Given the description of an element on the screen output the (x, y) to click on. 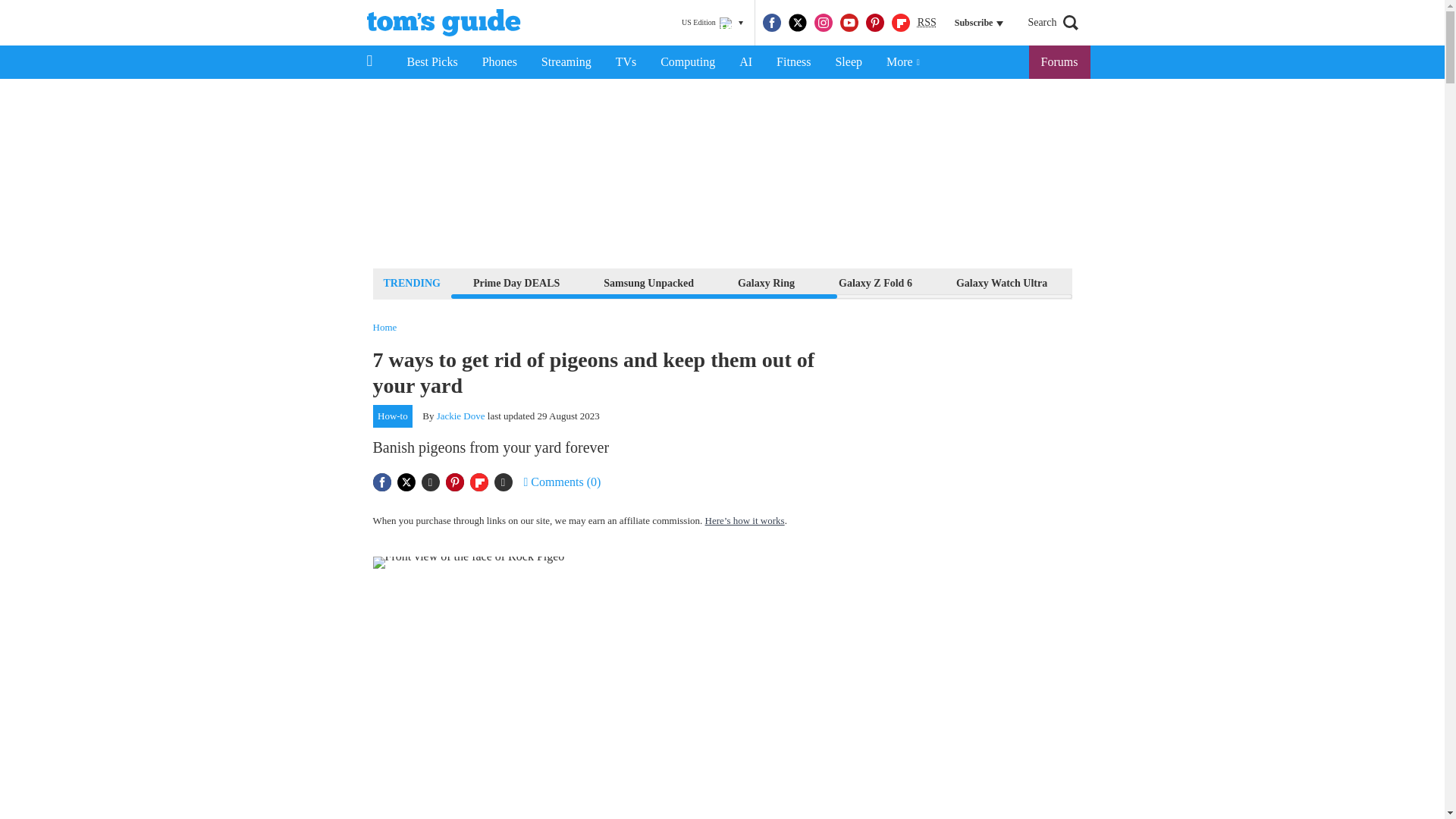
Best Picks (431, 61)
Streaming (566, 61)
TVs (626, 61)
Computing (686, 61)
Sleep (848, 61)
AI (745, 61)
Phones (499, 61)
Really Simple Syndication (926, 21)
US Edition (712, 22)
Fitness (793, 61)
RSS (926, 22)
